Given the description of an element on the screen output the (x, y) to click on. 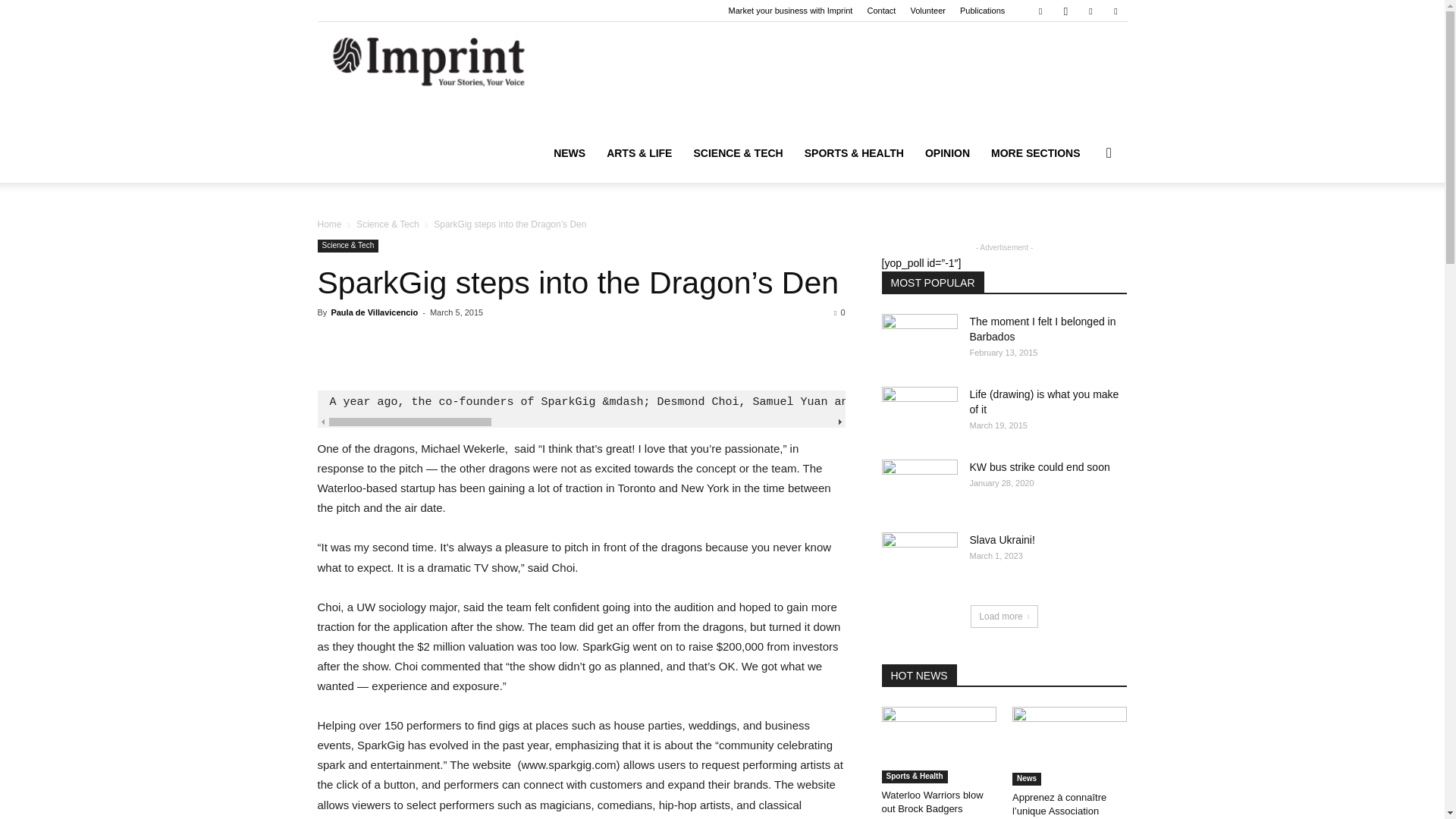
Youtube (1114, 10)
Facebook (1040, 10)
Twitter (1090, 10)
Volunteer (927, 10)
Instagram (1065, 10)
Publications (981, 10)
Market your business with Imprint (791, 10)
Contact (880, 10)
